Given the description of an element on the screen output the (x, y) to click on. 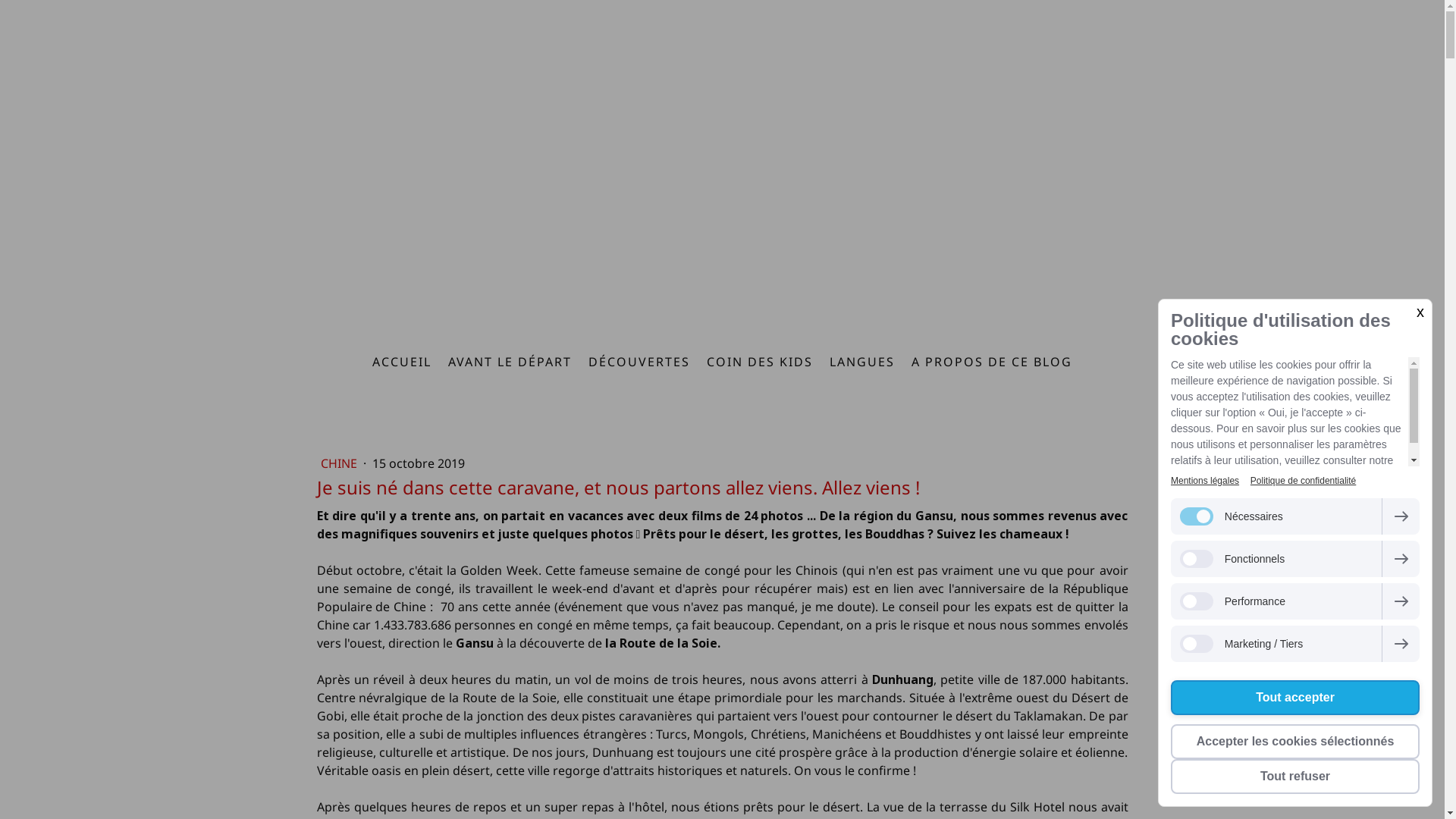
ACCUEIL Element type: text (401, 361)
CHINE Element type: text (339, 463)
LANGUES Element type: text (862, 361)
Tout accepter Element type: text (1294, 697)
Tout refuser Element type: text (1294, 776)
COIN DES KIDS Element type: text (759, 361)
A PROPOS DE CE BLOG Element type: text (991, 361)
Back to China Element type: text (722, 132)
